Given the description of an element on the screen output the (x, y) to click on. 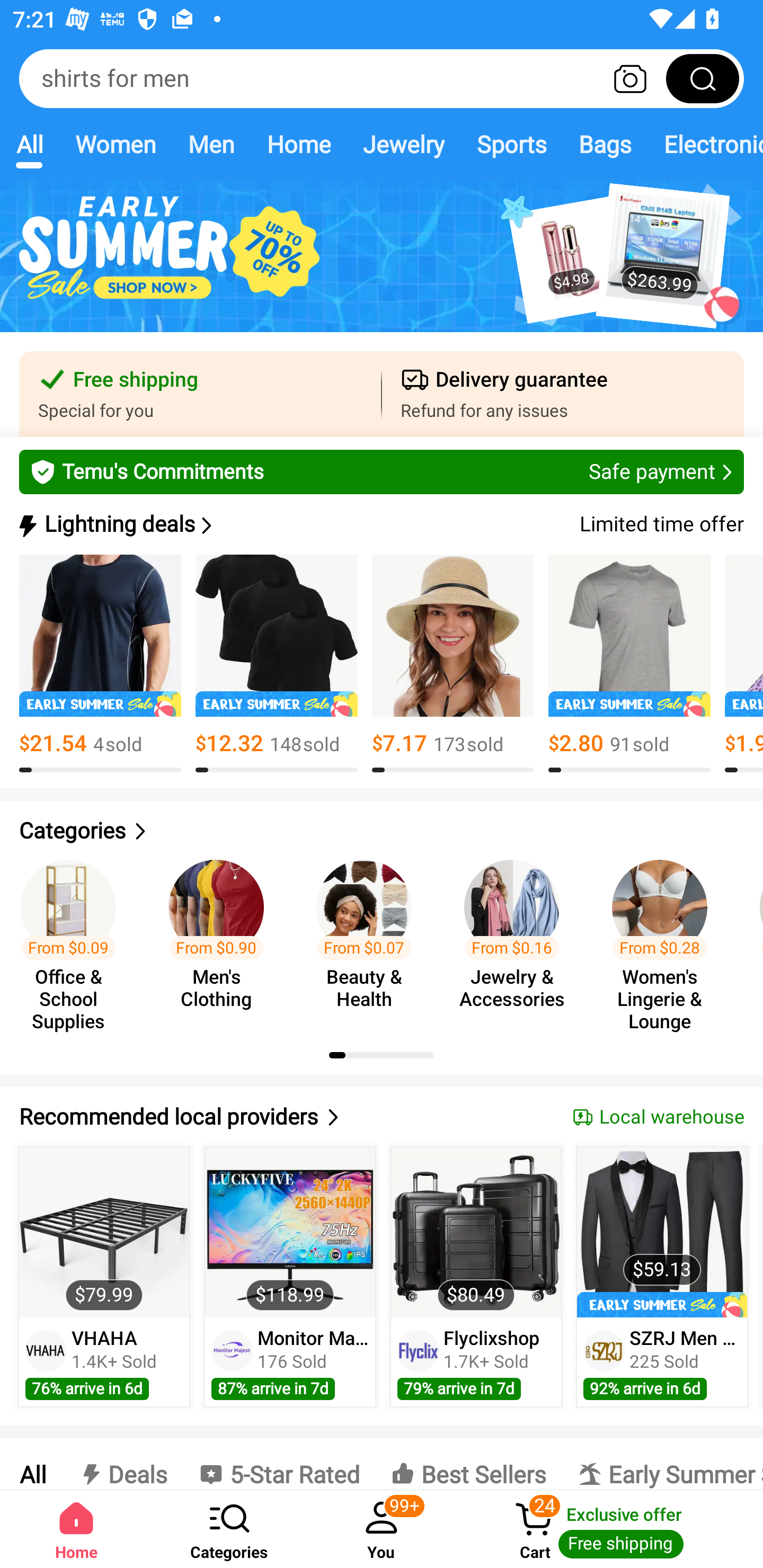
shirts for men (381, 78)
All (29, 144)
Women (115, 144)
Men (211, 144)
Home (298, 144)
Jewelry (403, 144)
Sports (511, 144)
Bags (605, 144)
Electronics (705, 144)
$4.98 $263.99 (381, 265)
Free shipping Special for you (200, 394)
Delivery guarantee Refund for any issues (562, 394)
Temu's Commitments (381, 471)
Lightning deals Lightning deals Limited time offer (379, 524)
$21.54 4￼sold 8.0 (100, 664)
$12.32 148￼sold 8.0 (276, 664)
$7.17 173￼sold 8.0 (453, 664)
$2.80 91￼sold 8.0 (629, 664)
Categories (381, 830)
From $0.09 Office & School Supplies (74, 936)
From $0.90 Men's Clothing (222, 936)
From $0.07 Beauty & Health (369, 936)
From $0.16 Jewelry & Accessories (517, 936)
From $0.28 Women's Lingerie & Lounge (665, 936)
$79.99 VHAHA 1.4K+ Sold 76% arrive in 6d (103, 1276)
$118.99 Monitor Majesty 176 Sold 87% arrive in 7d (289, 1276)
$80.49 Flyclixshop 1.7K+ Sold 79% arrive in 7d (475, 1276)
$59.13 SZRJ Men Fashion 225 Sold 92% arrive in 6d (661, 1276)
$79.99 (104, 1232)
$118.99 (290, 1232)
$80.49 (475, 1232)
$59.13 (661, 1232)
All (32, 1463)
Deals Deals Deals (122, 1463)
5-Star Rated 5-Star Rated 5-Star Rated (279, 1463)
Best Sellers Best Sellers Best Sellers (468, 1463)
Home (76, 1528)
Categories (228, 1528)
You ‎99+‎ You (381, 1528)
Cart 24 Cart Exclusive offer (610, 1528)
